Given the description of an element on the screen output the (x, y) to click on. 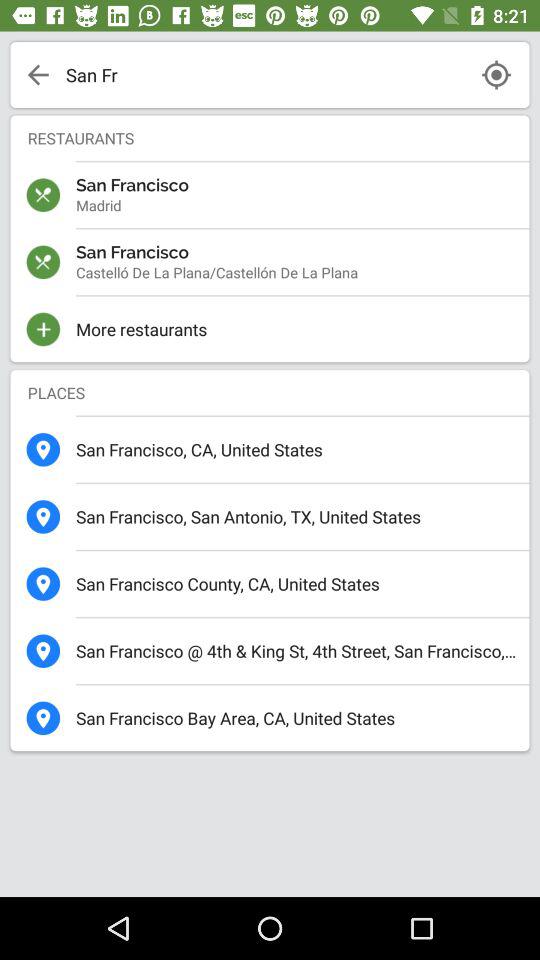
jump to the places icon (269, 392)
